Given the description of an element on the screen output the (x, y) to click on. 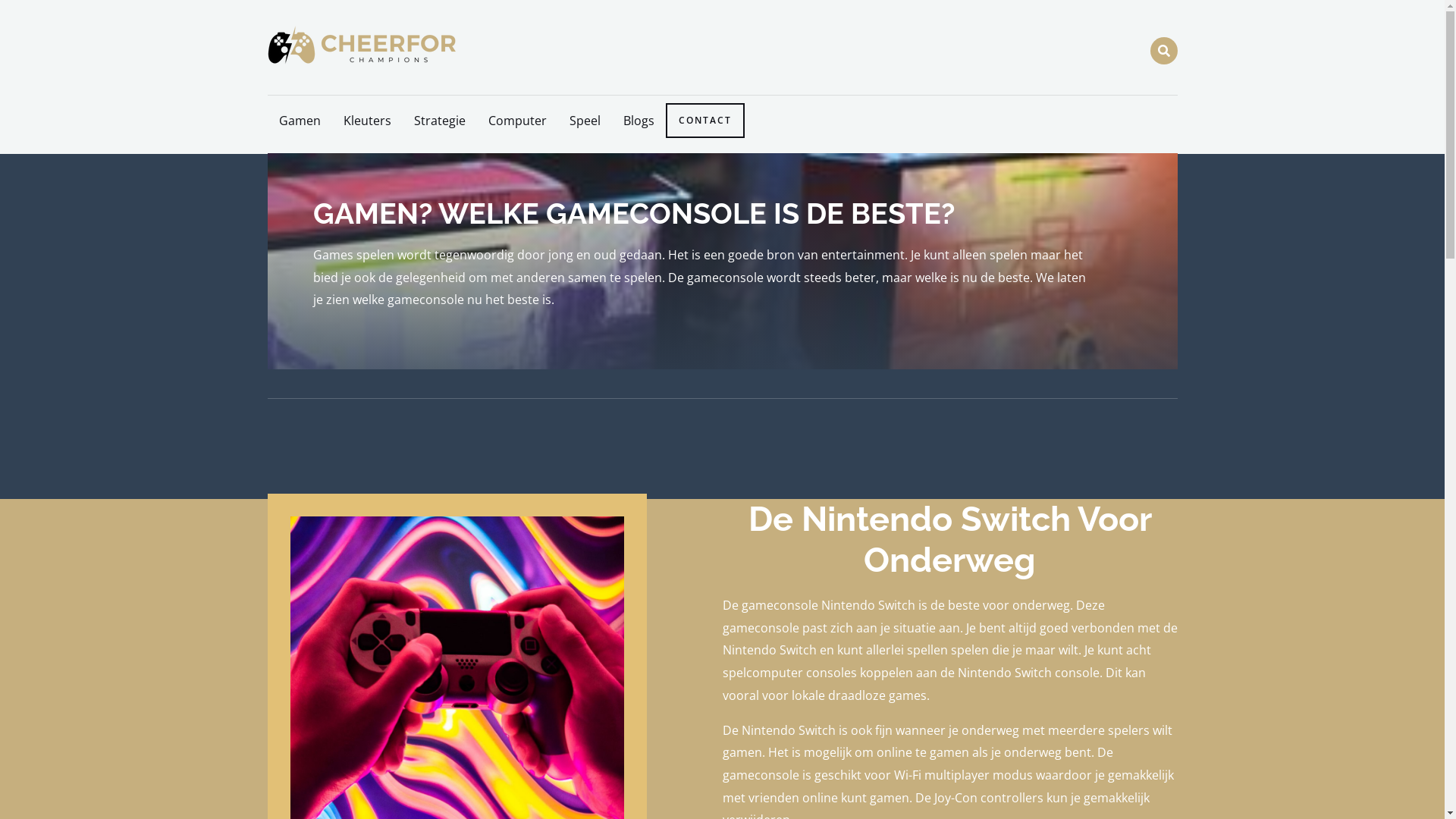
Speel Element type: text (584, 120)
Strategie Element type: text (438, 120)
Kleuters Element type: text (367, 120)
Blogs Element type: text (638, 120)
Gamen Element type: text (298, 120)
CONTACT Element type: text (704, 120)
Computer Element type: text (516, 120)
